Given the description of an element on the screen output the (x, y) to click on. 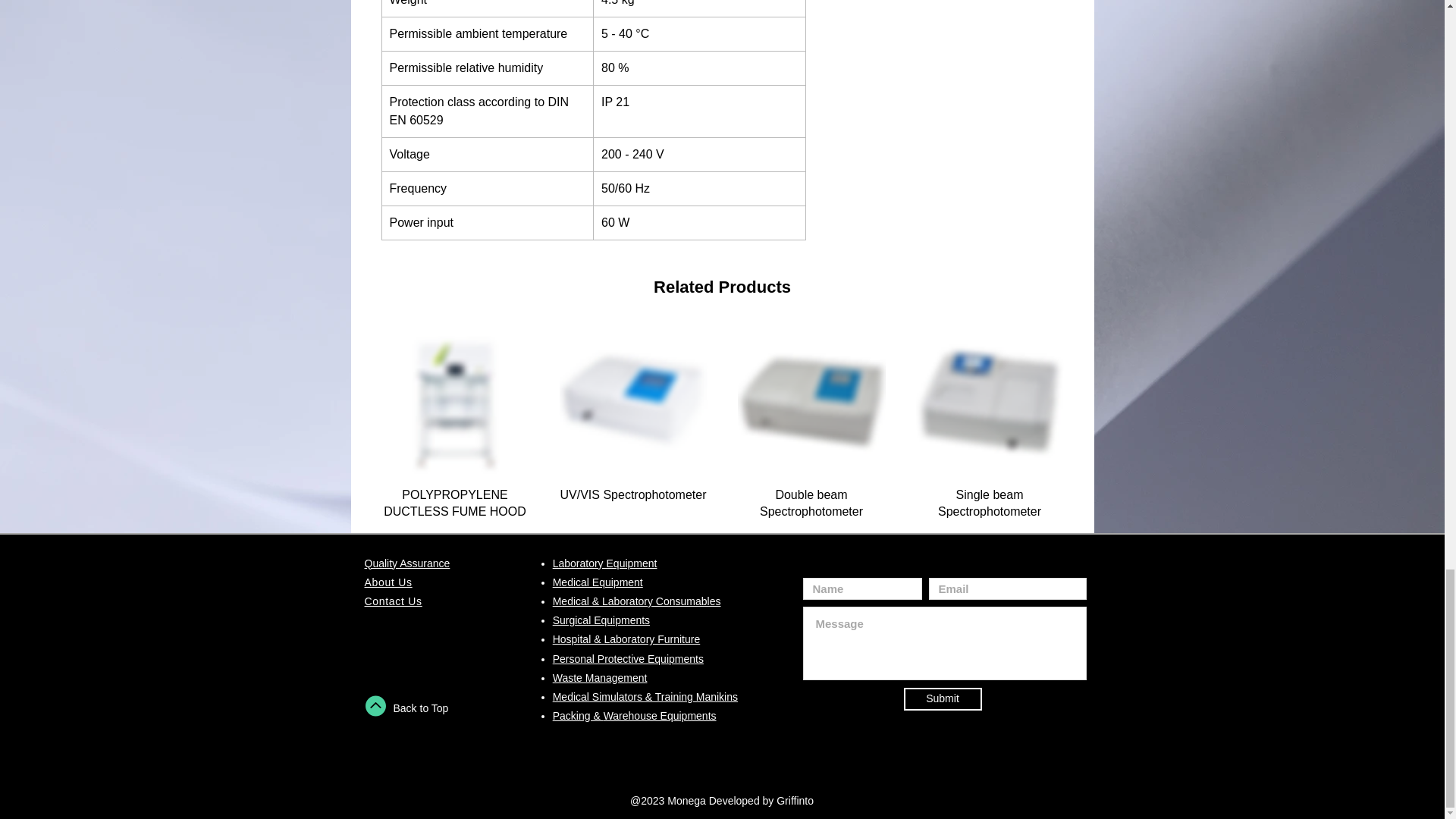
Single beam Spectrophotometer (989, 503)
POLYPROPYLENE DUCTLESS FUME HOOD (454, 503)
Double beam Spectrophotometer (810, 503)
